Given the description of an element on the screen output the (x, y) to click on. 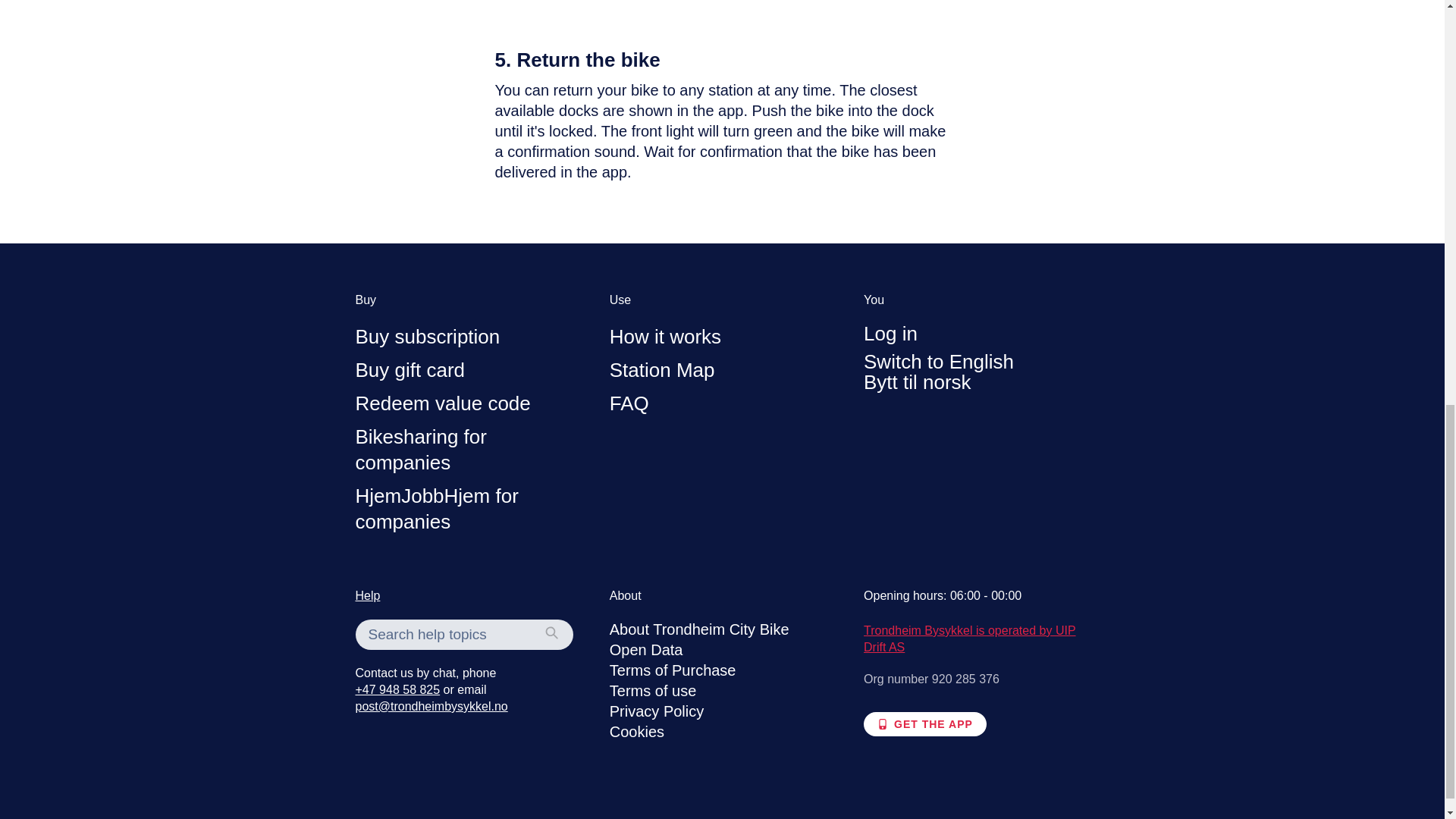
Redeem value code (442, 403)
Station Map (662, 369)
Terms of use (652, 690)
Help (367, 594)
Log in (890, 333)
HjemJobbHjem for companies (436, 508)
GET THE APP (925, 723)
Bytt til norsk (917, 382)
Bikesharing for companies (420, 449)
How it works (665, 336)
Open Data (646, 649)
FAQ (629, 403)
About Trondheim City Bike (699, 629)
Privacy Policy (656, 710)
Search help topics (551, 634)
